Given the description of an element on the screen output the (x, y) to click on. 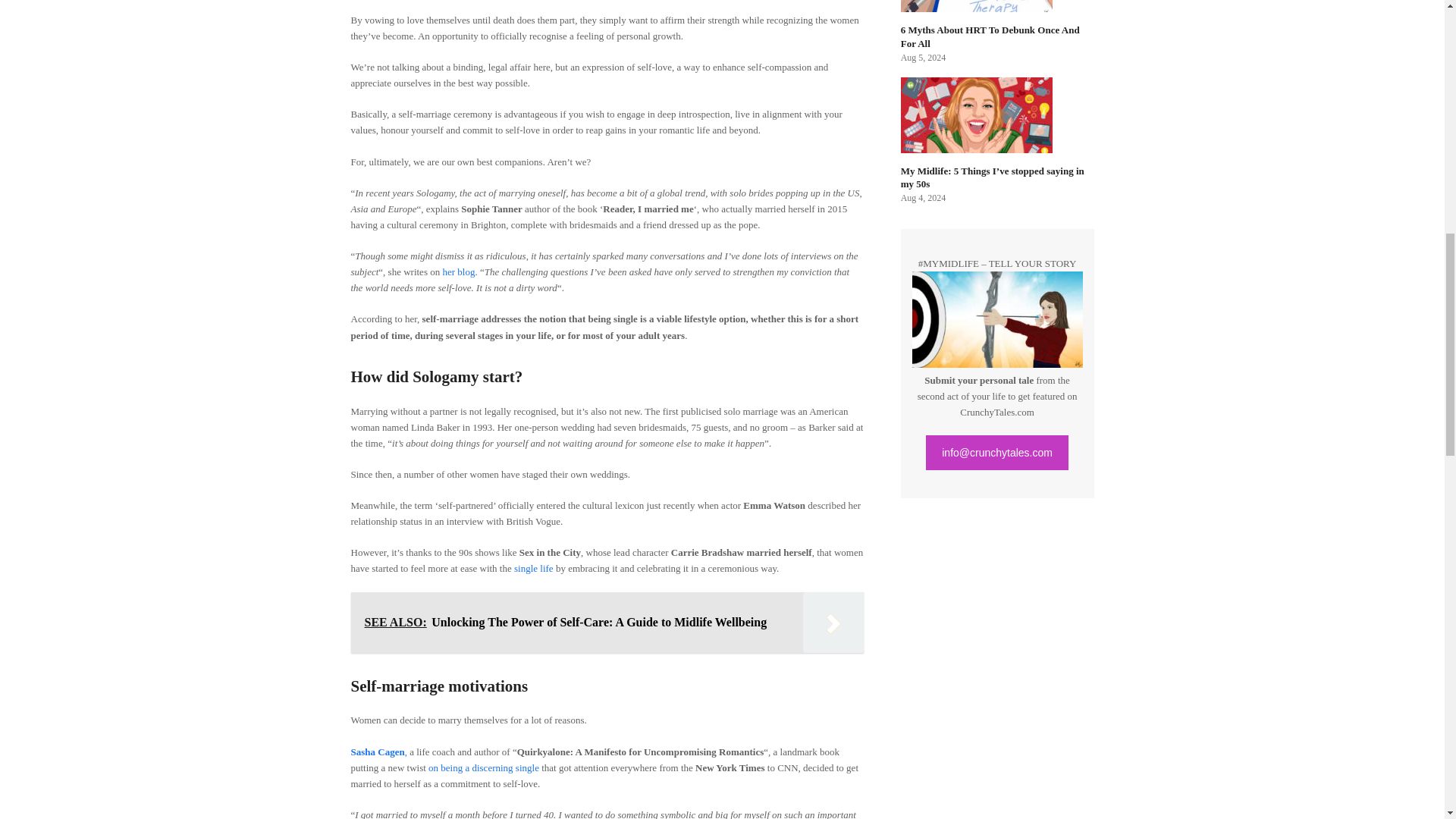
on being a discerning single (483, 767)
single life (533, 568)
her blog (458, 271)
Sasha Cagen, (378, 751)
